Given the description of an element on the screen output the (x, y) to click on. 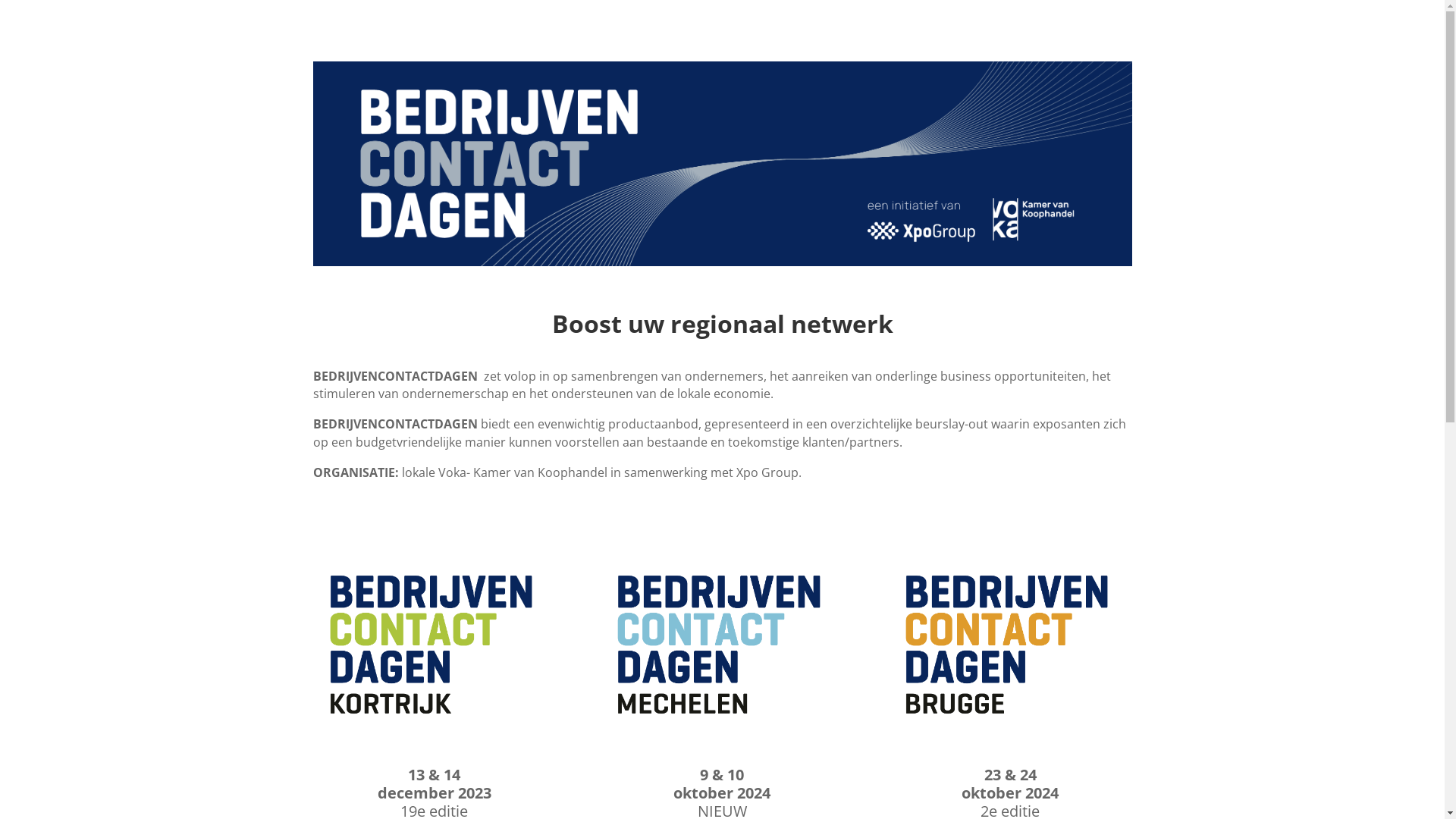
BCD_Kortrijk_1 Element type: hover (433, 644)
BCD_Mechelen_1 Element type: hover (721, 644)
23BCD_Banner_Algemeen_1200x300px Element type: hover (721, 163)
BCD_Brugge_1 Element type: hover (1009, 644)
